Given the description of an element on the screen output the (x, y) to click on. 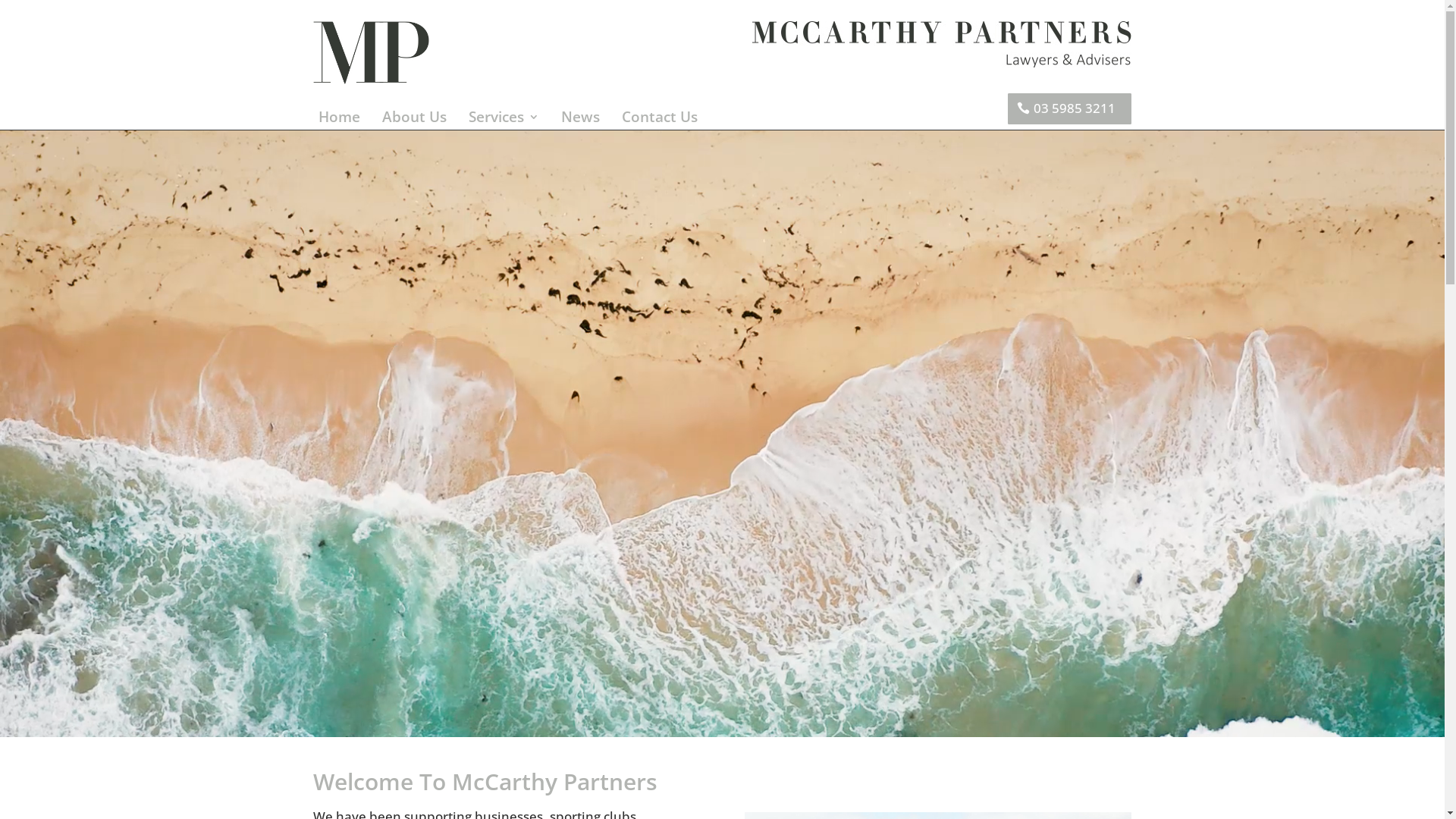
About Us Element type: text (414, 119)
Contact Us Element type: text (659, 119)
Home Element type: text (339, 119)
03 5985 3211 Element type: text (1069, 108)
Services Element type: text (503, 119)
MCP_Monogram_Charcoal_HR Element type: hover (370, 52)
MCP_Logo_Horz_Charcoal_HR_UPDATE Element type: hover (941, 44)
News Element type: text (580, 119)
